Given the description of an element on the screen output the (x, y) to click on. 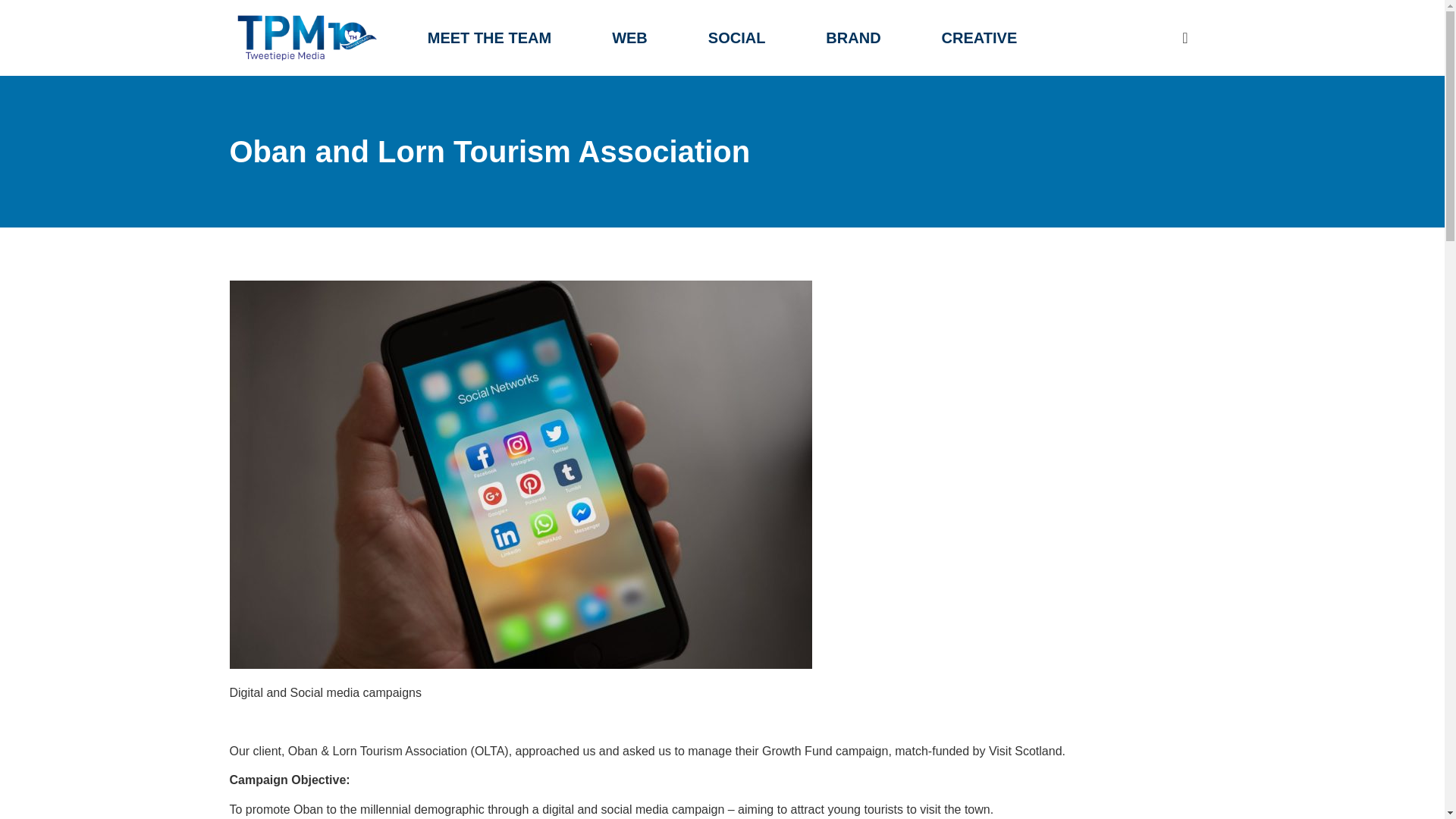
SOCIAL (736, 37)
WEB (629, 37)
MEET THE TEAM (489, 37)
BRAND (852, 37)
CREATIVE (979, 37)
